Given the description of an element on the screen output the (x, y) to click on. 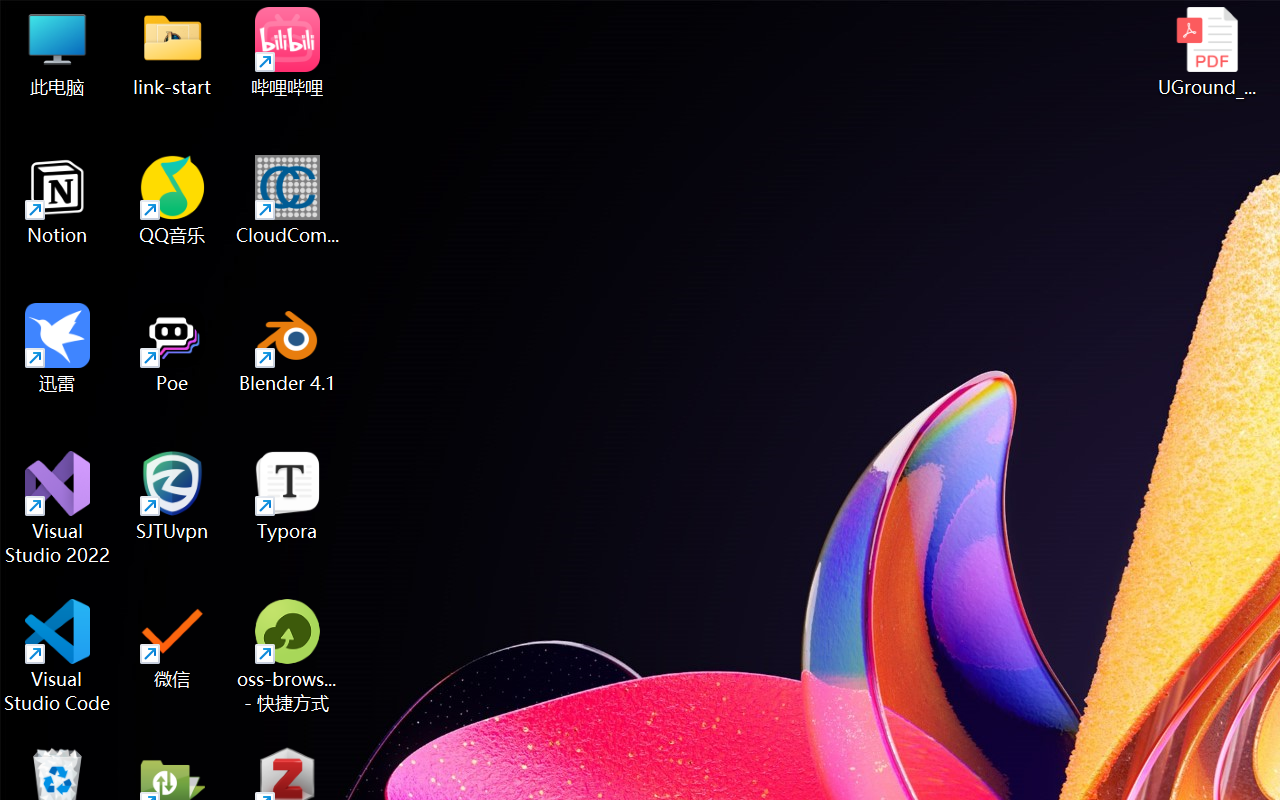
Typora (287, 496)
Visual Studio 2022 (57, 508)
UGround_paper.pdf (1206, 52)
Blender 4.1 (287, 348)
CloudCompare (287, 200)
Visual Studio Code (57, 656)
